Given the description of an element on the screen output the (x, y) to click on. 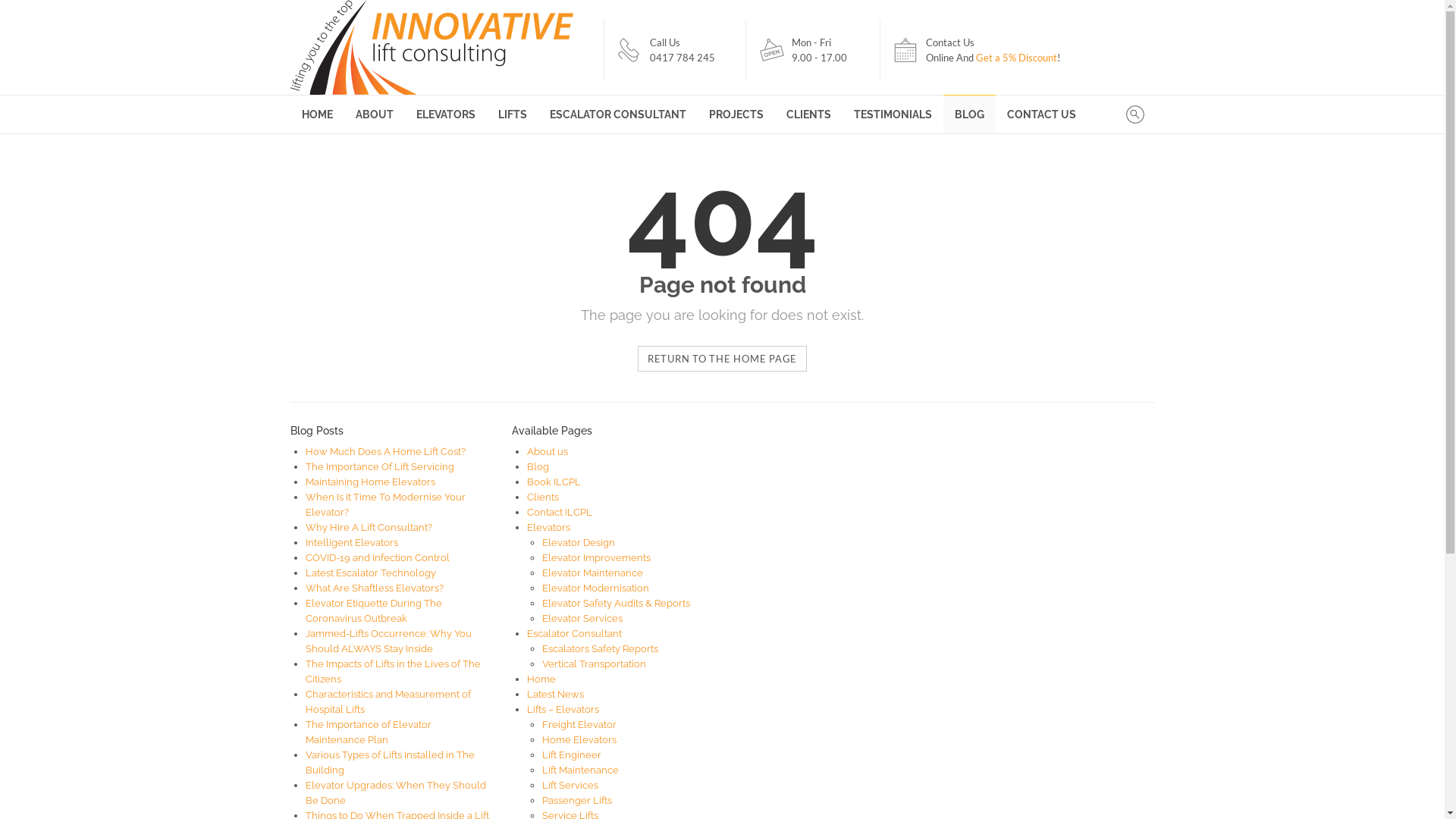
Contact ILCPL Element type: text (559, 511)
Elevator Services Element type: text (582, 618)
Jammed-Lifts Occurrence: Why You Should ALWAYS Stay Inside Element type: text (387, 640)
Book ILCPL Element type: text (553, 481)
Elevator Design Element type: text (578, 542)
The Importance of Elevator Maintenance Plan Element type: text (367, 731)
CONTACT US Element type: text (1040, 114)
LIFTS Element type: text (512, 114)
Passenger Lifts Element type: text (576, 800)
Lift Maintenance Element type: text (580, 769)
Lift Services Element type: text (570, 784)
Elevator Safety Audits & Reports Element type: text (616, 602)
Blog Element type: text (538, 466)
What Are Shaftless Elevators? Element type: text (373, 587)
Elevator Etiquette During The Coronavirus Outbreak Element type: text (372, 610)
Elevator Modernisation Element type: text (595, 587)
Elevator Upgrades: When They Should Be Done Element type: text (394, 792)
PROJECTS Element type: text (736, 114)
About us Element type: text (547, 451)
Home Elevators Element type: text (579, 739)
ELEVATORS Element type: text (445, 114)
Maintaining Home Elevators Element type: text (369, 481)
Why Hire A Lift Consultant? Element type: text (367, 527)
Call Us
0417 784 245 Element type: text (681, 49)
Clients Element type: text (542, 496)
COVID-19 and Infection Control Element type: text (376, 557)
Lift Engineer Element type: text (571, 754)
The Importance Of Lift Servicing Element type: text (378, 466)
ESCALATOR CONSULTANT Element type: text (617, 114)
CLIENTS Element type: text (808, 114)
Characteristics and Measurement of Hospital Lifts Element type: text (387, 701)
The Impacts of Lifts in the Lives of The Citizens Element type: text (392, 671)
Elevators Element type: text (548, 527)
Home Element type: text (541, 678)
BLOG Element type: text (969, 114)
Escalator Consultant Element type: text (574, 633)
ABOUT Element type: text (374, 114)
RETURN TO THE HOME PAGE Element type: text (721, 358)
HOME Element type: text (316, 114)
Latest News Element type: text (555, 693)
Latest Escalator Technology Element type: text (369, 572)
Elevator Improvements Element type: text (596, 557)
Vertical Transportation Element type: text (594, 663)
TESTIMONIALS Element type: text (891, 114)
When Is It Time To Modernise Your Elevator? Element type: text (384, 504)
Elevator Maintenance Element type: text (592, 572)
Various Types of Lifts Installed in The Building Element type: text (388, 762)
How Much Does A Home Lift Cost? Element type: text (384, 451)
Intelligent Elevators Element type: text (350, 542)
Freight Elevator Element type: text (579, 724)
Get a 5% Discount Element type: text (1015, 57)
Escalators Safety Reports Element type: text (600, 648)
